Given the description of an element on the screen output the (x, y) to click on. 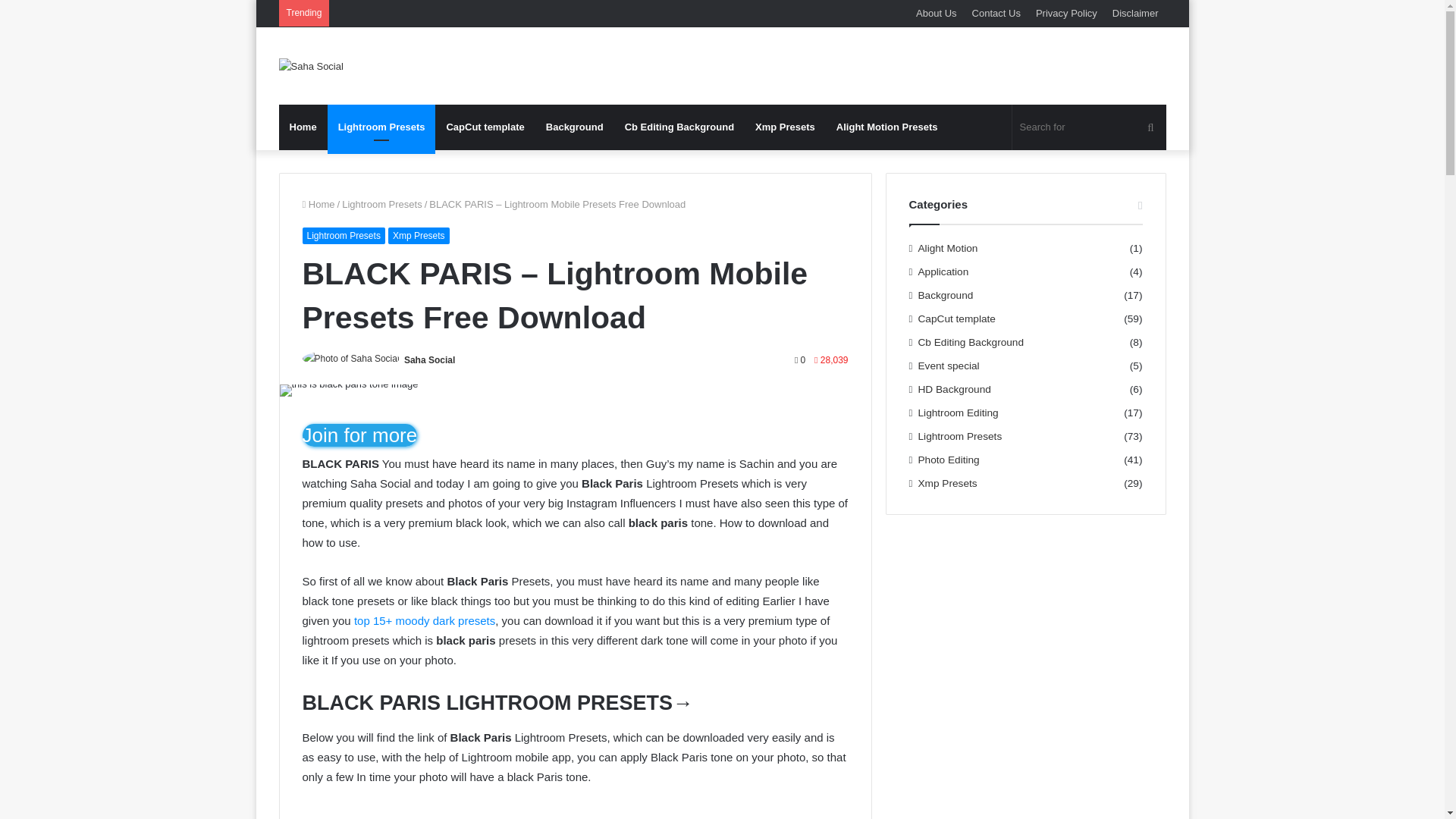
Home (317, 204)
Lightroom Presets (381, 126)
Lightroom Presets (342, 235)
Saha Social (429, 359)
Saha Social (429, 359)
Join for more (358, 435)
Alight Motion Presets (887, 126)
Search for (1088, 126)
About Us (935, 13)
Xmp Presets (418, 235)
Disclaimer (1135, 13)
Cb Editing Background (679, 126)
Saha Social (311, 65)
Xmp Presets (784, 126)
Background (574, 126)
